Given the description of an element on the screen output the (x, y) to click on. 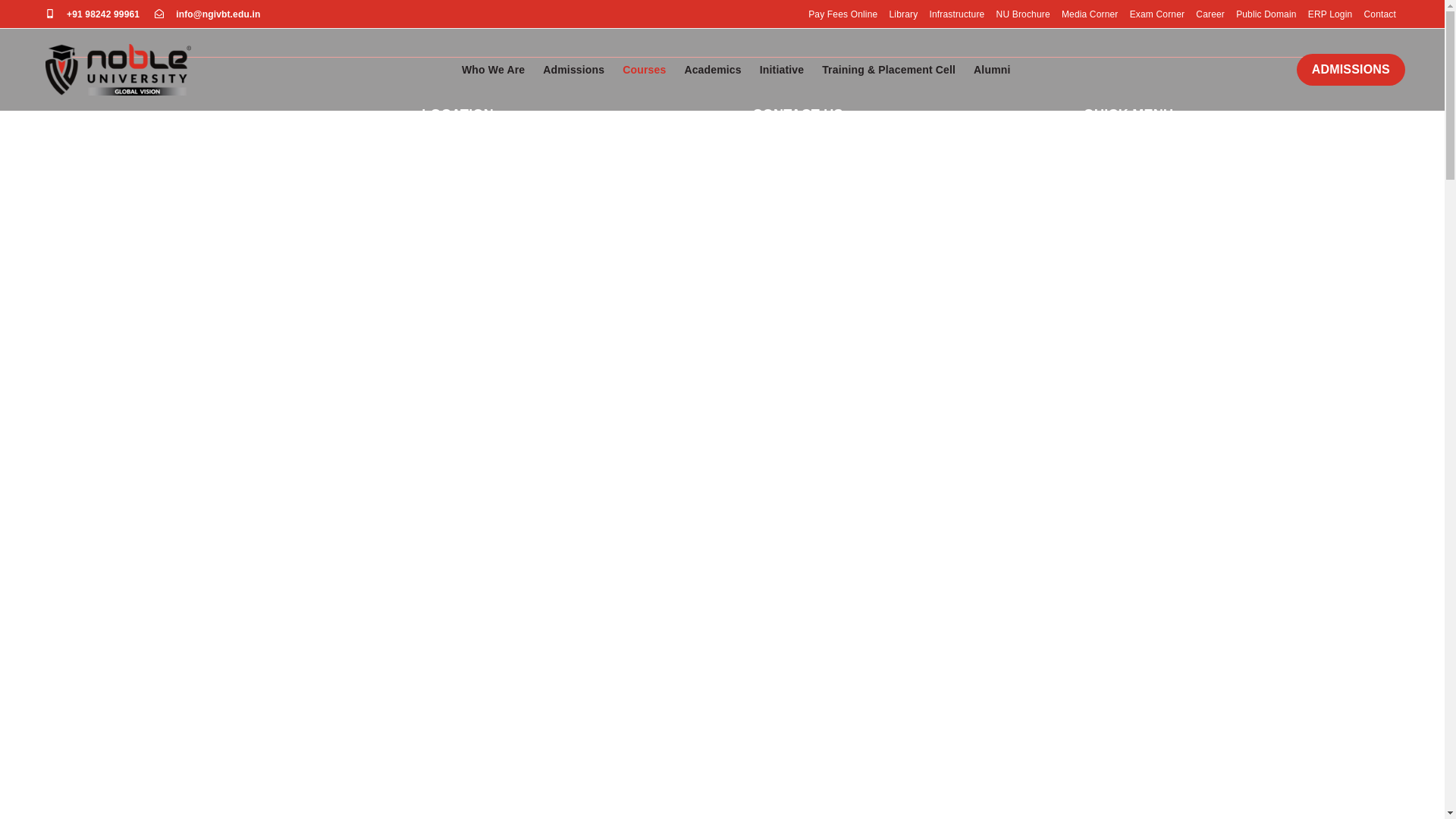
Exam Corner (1157, 14)
Career (1209, 14)
Who We Are (493, 69)
Media Corner (1089, 14)
Library (902, 14)
Public Domain (1265, 14)
Infrastructure (956, 14)
Admissions (573, 69)
ERP Login (1329, 14)
Pay Fees Online (842, 14)
